Given the description of an element on the screen output the (x, y) to click on. 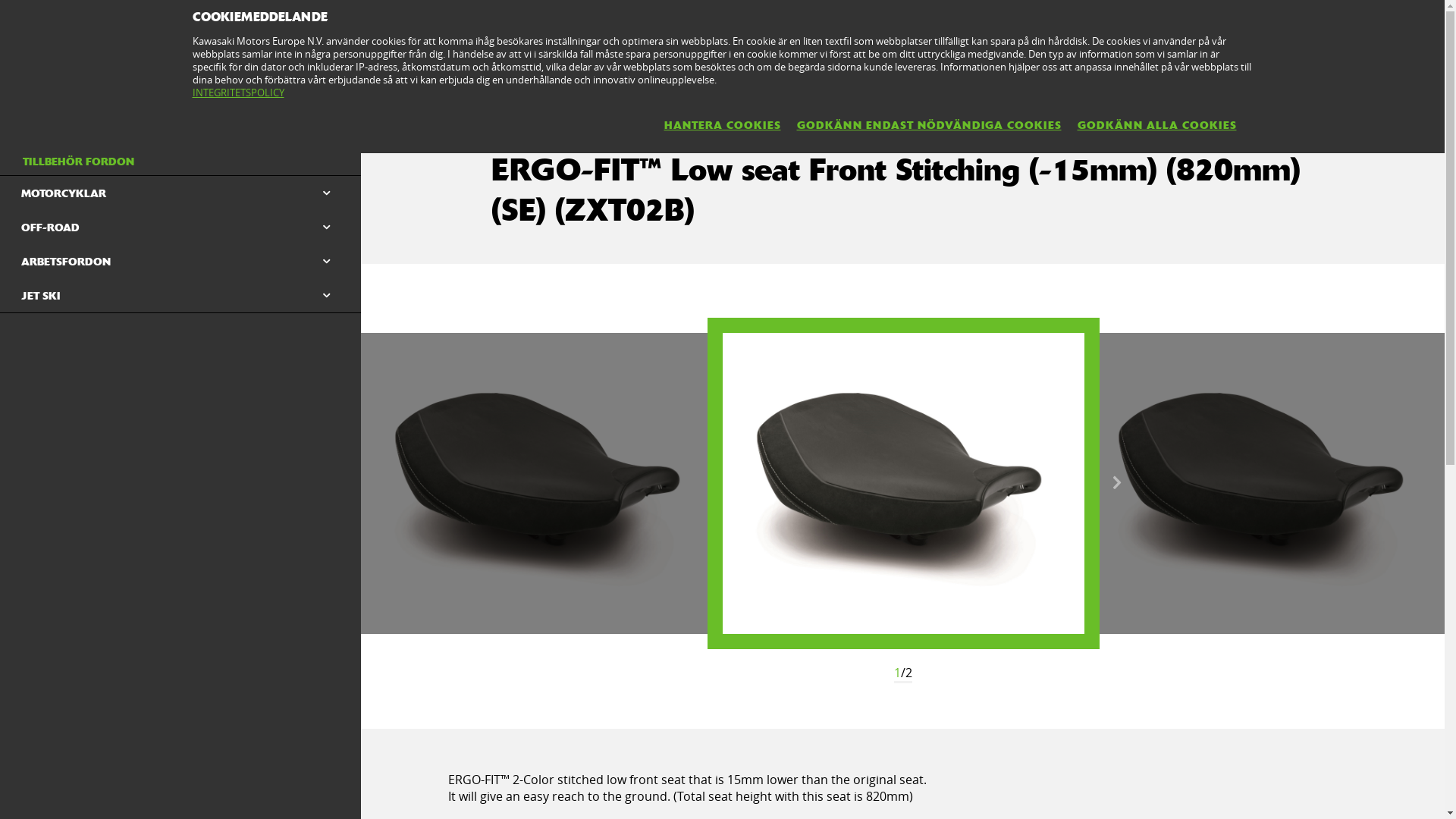
PRODUKTER (176, 80)
Om Kawasaki (1252, 24)
Nyheter (1410, 24)
